Given the description of an element on the screen output the (x, y) to click on. 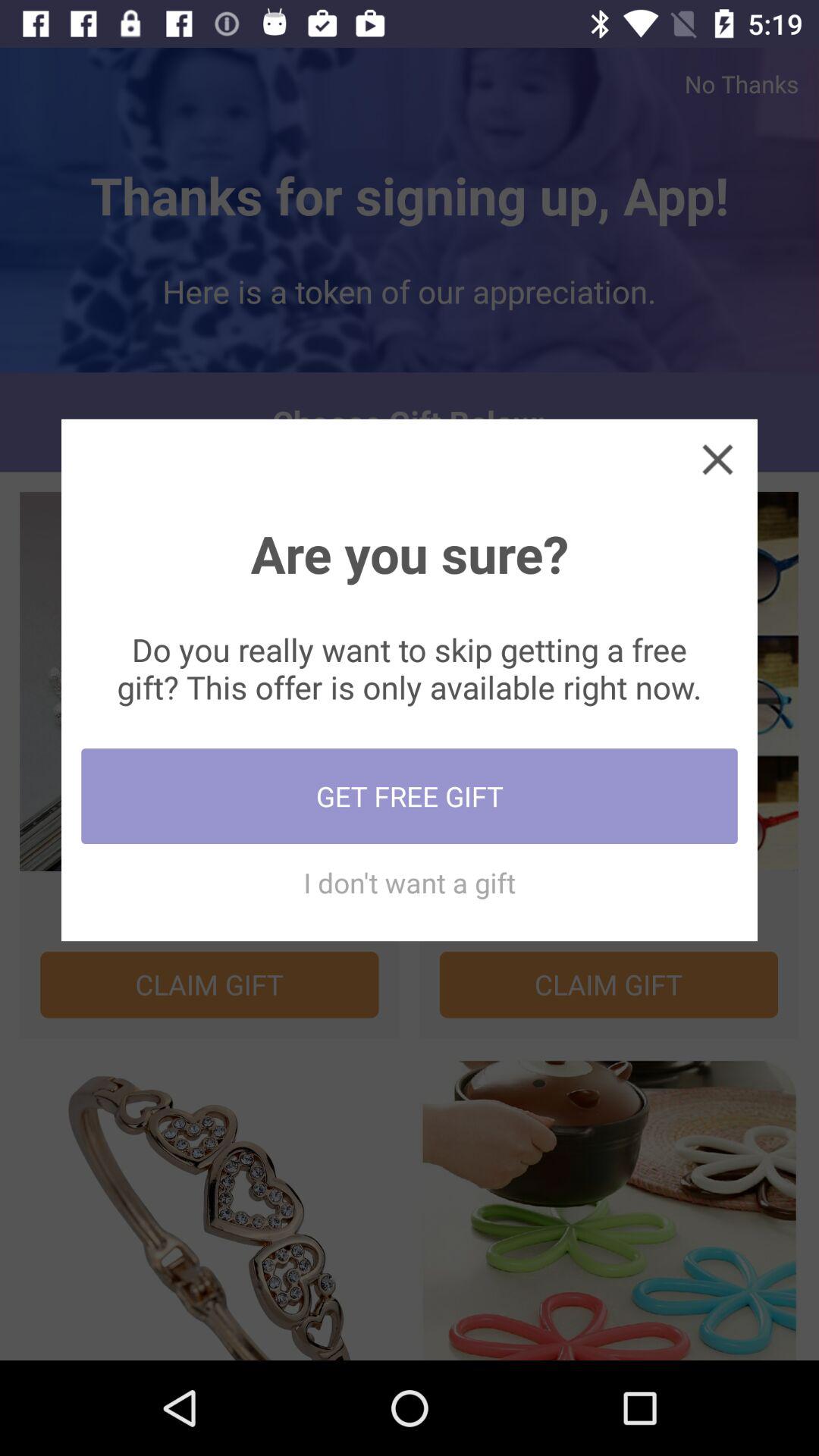
close pop-up (717, 458)
